Given the description of an element on the screen output the (x, y) to click on. 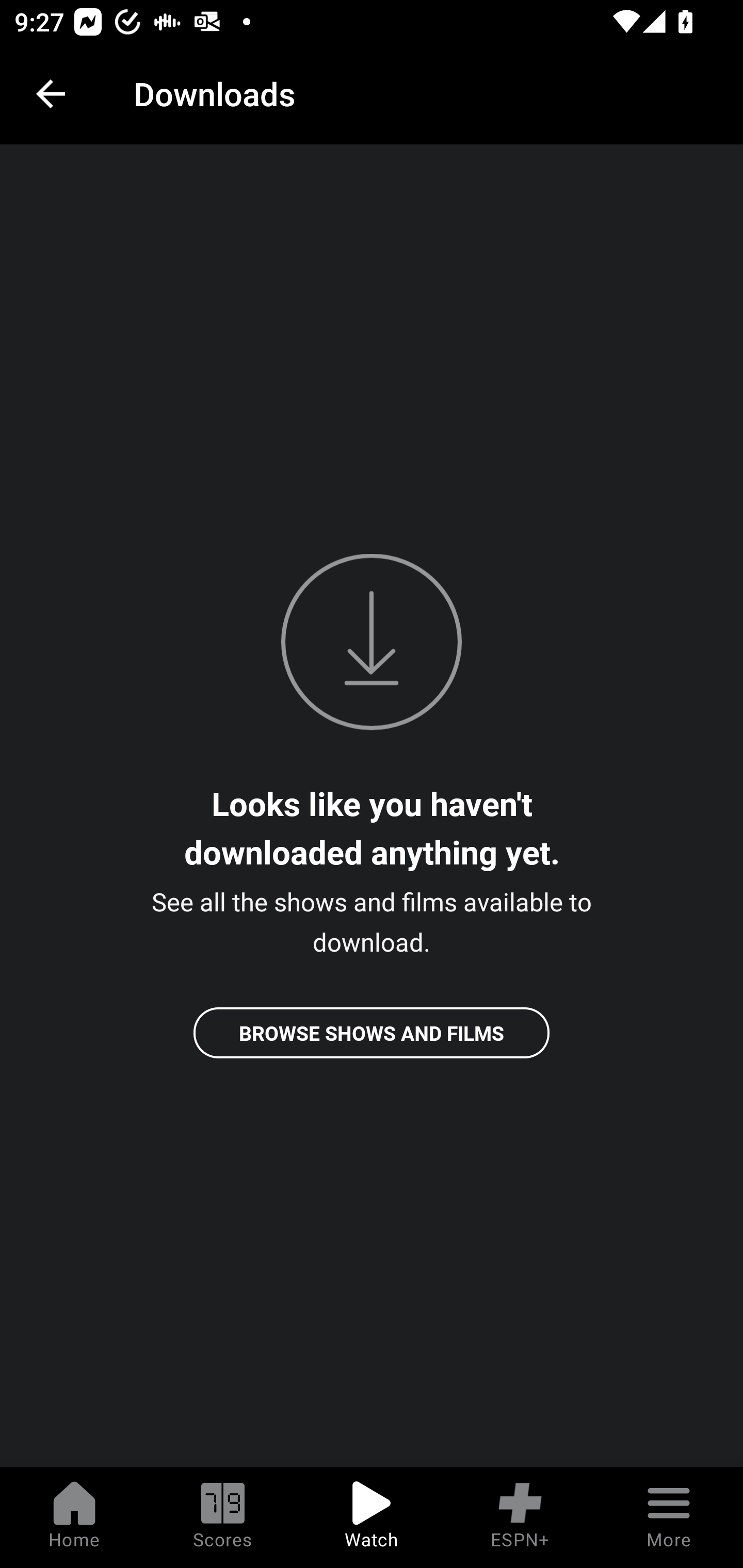
BROWSE SHOWS AND FILMS (371, 1032)
Home (74, 1517)
Scores (222, 1517)
ESPN+ (519, 1517)
More (668, 1517)
